Given the description of an element on the screen output the (x, y) to click on. 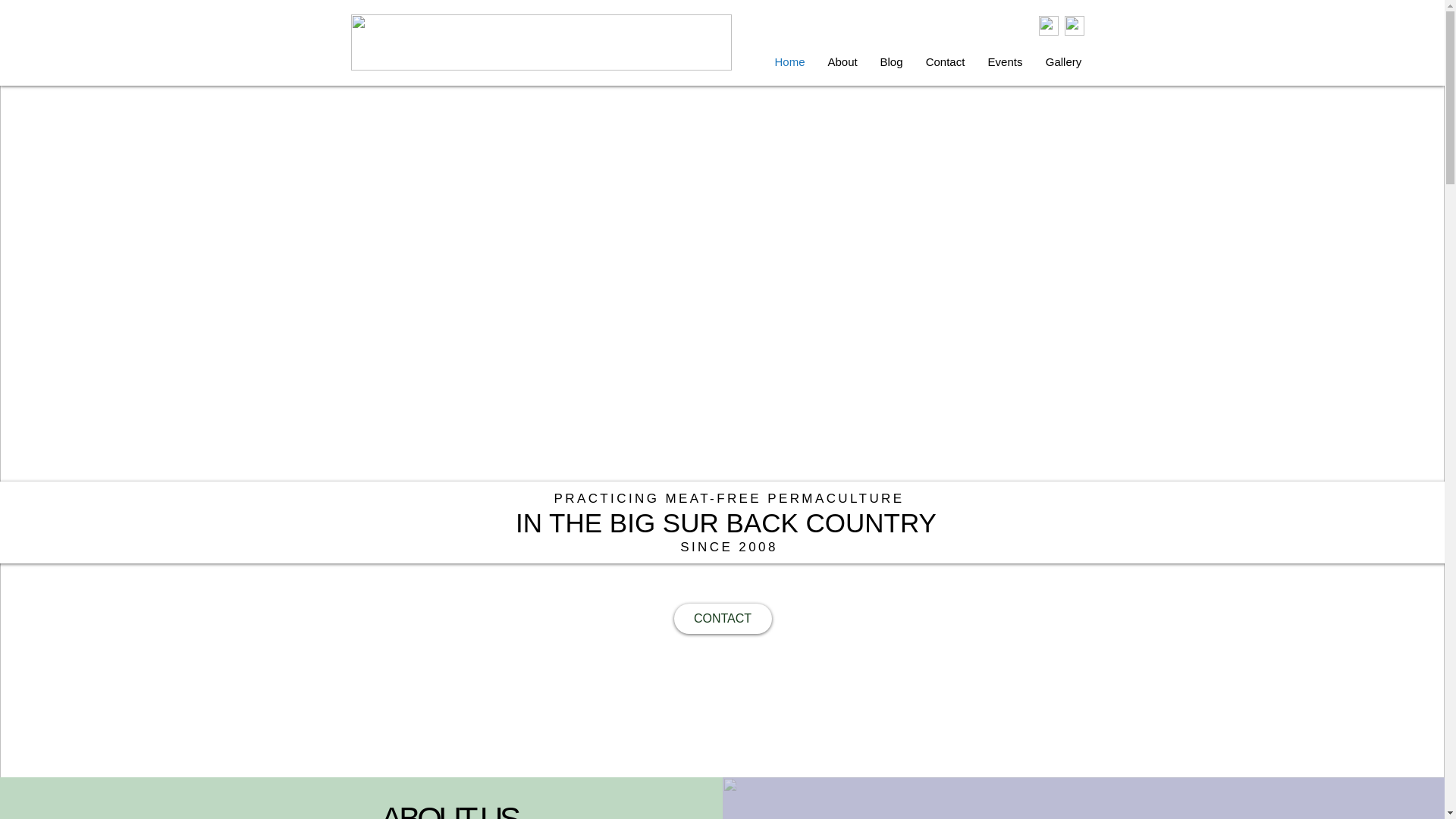
Blog (891, 62)
Contact (945, 62)
CONTACT (721, 618)
About (841, 62)
Events (1004, 62)
Gallery (1063, 62)
Home (788, 62)
